Given the description of an element on the screen output the (x, y) to click on. 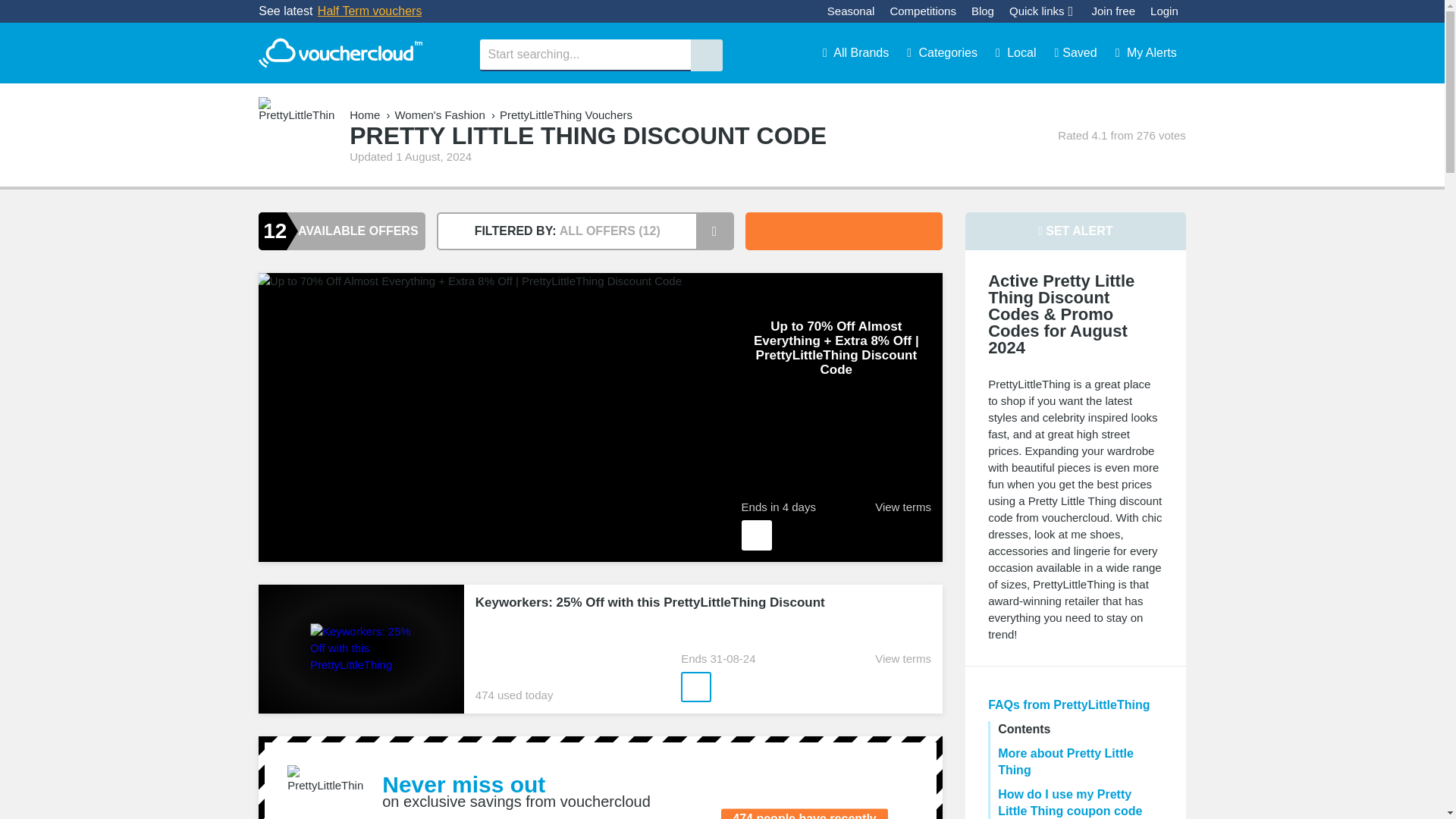
vouchercloud (340, 52)
SEARCH (706, 55)
